Given the description of an element on the screen output the (x, y) to click on. 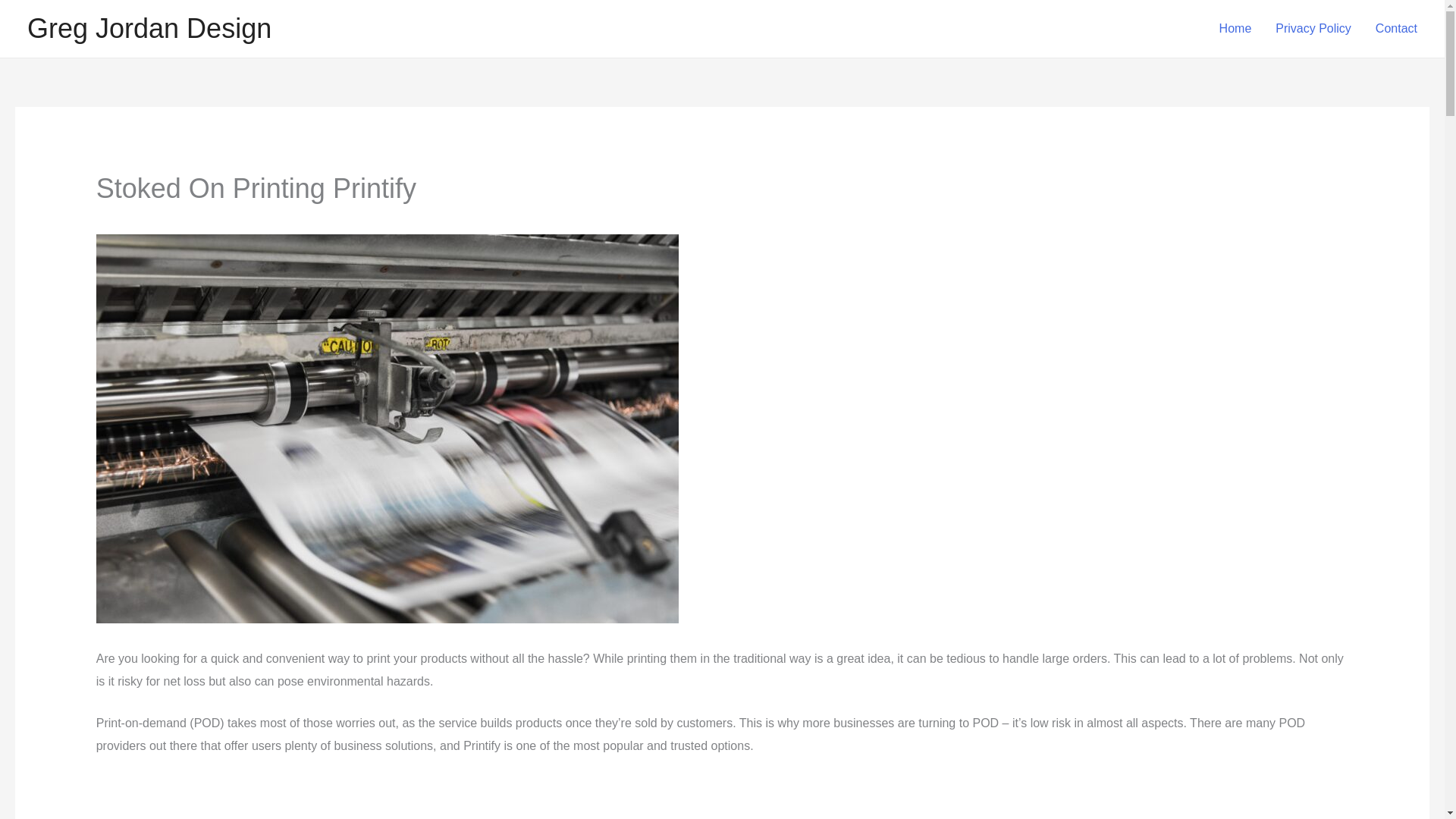
Greg Jordan Design (148, 28)
Home (1235, 28)
Contact (1395, 28)
Privacy Policy (1312, 28)
